Given the description of an element on the screen output the (x, y) to click on. 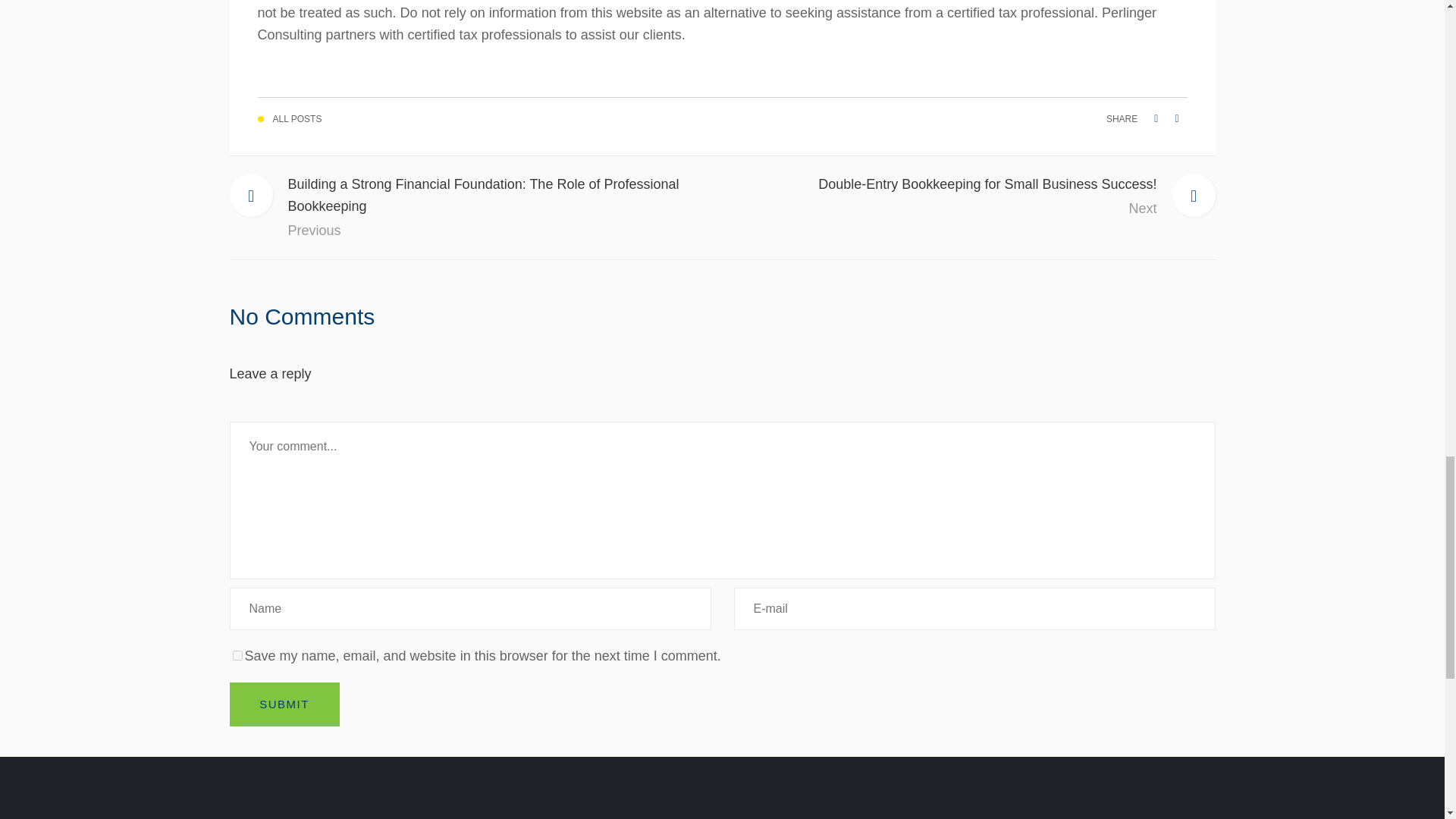
yes (968, 196)
Submit (236, 655)
ALL POSTS (283, 704)
